Given the description of an element on the screen output the (x, y) to click on. 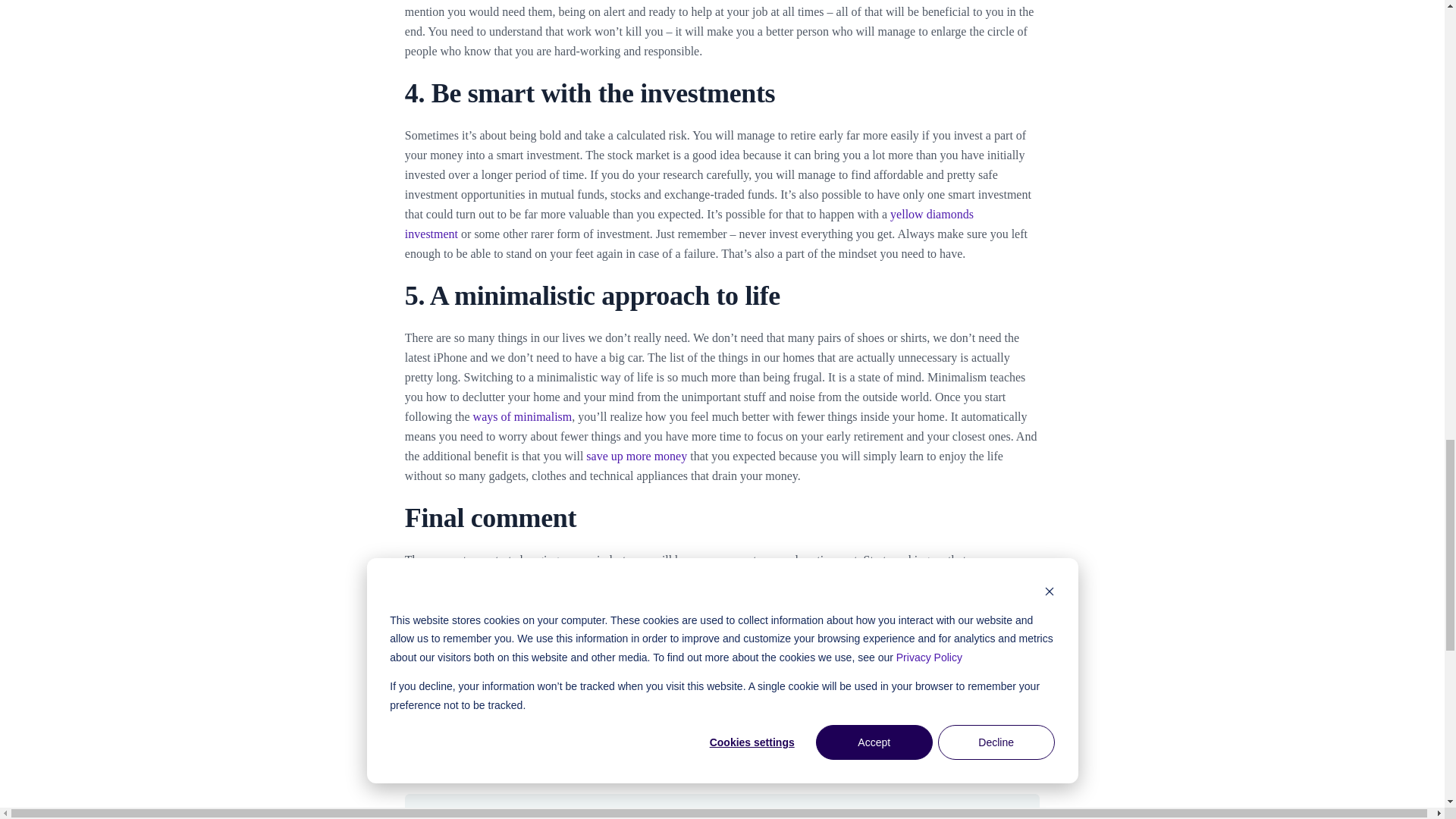
LinkedIn (1005, 725)
Facebook (925, 725)
Twitter (965, 725)
